Given the description of an element on the screen output the (x, y) to click on. 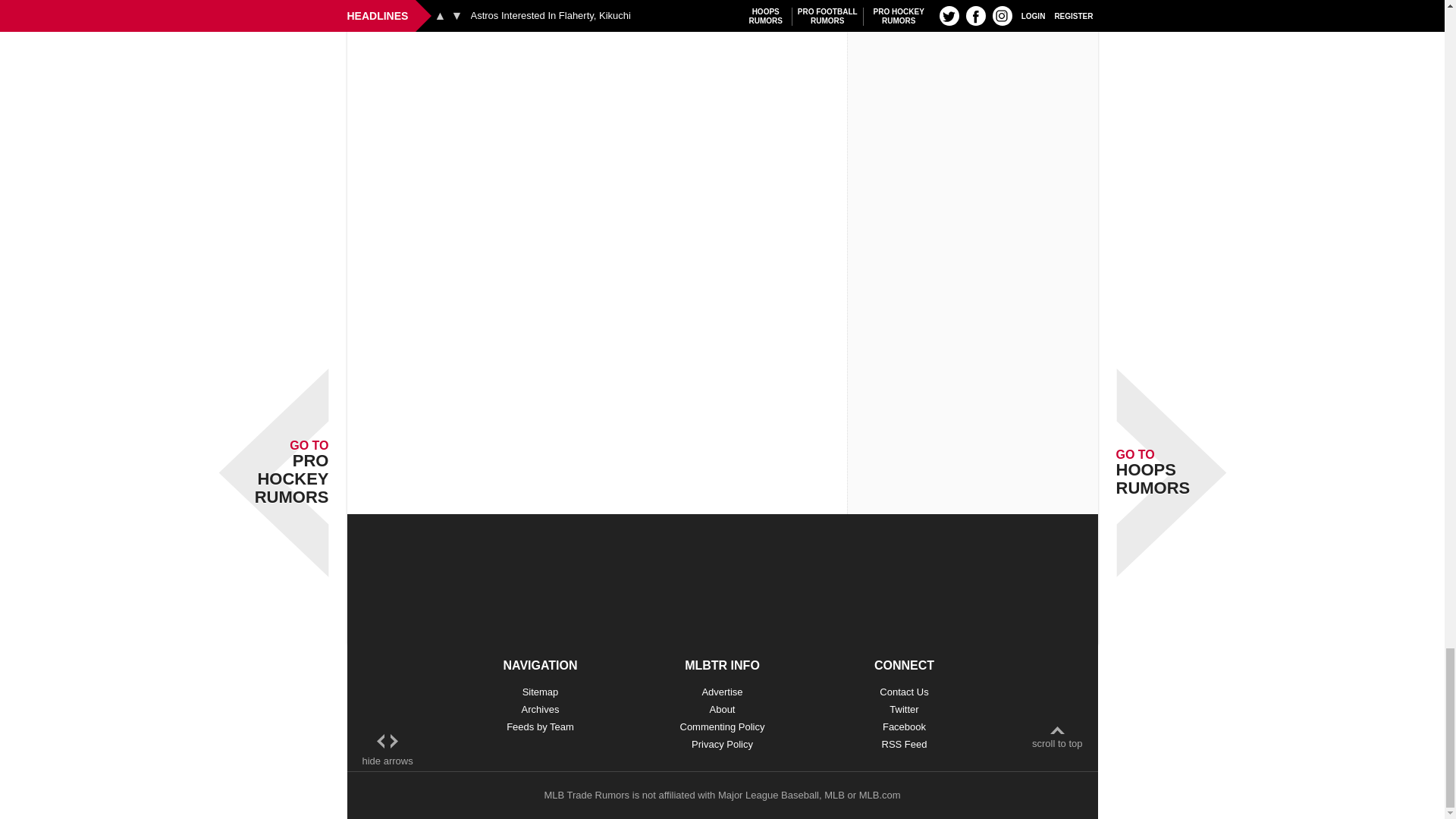
MLB Trade Rumors (585, 794)
